Given the description of an element on the screen output the (x, y) to click on. 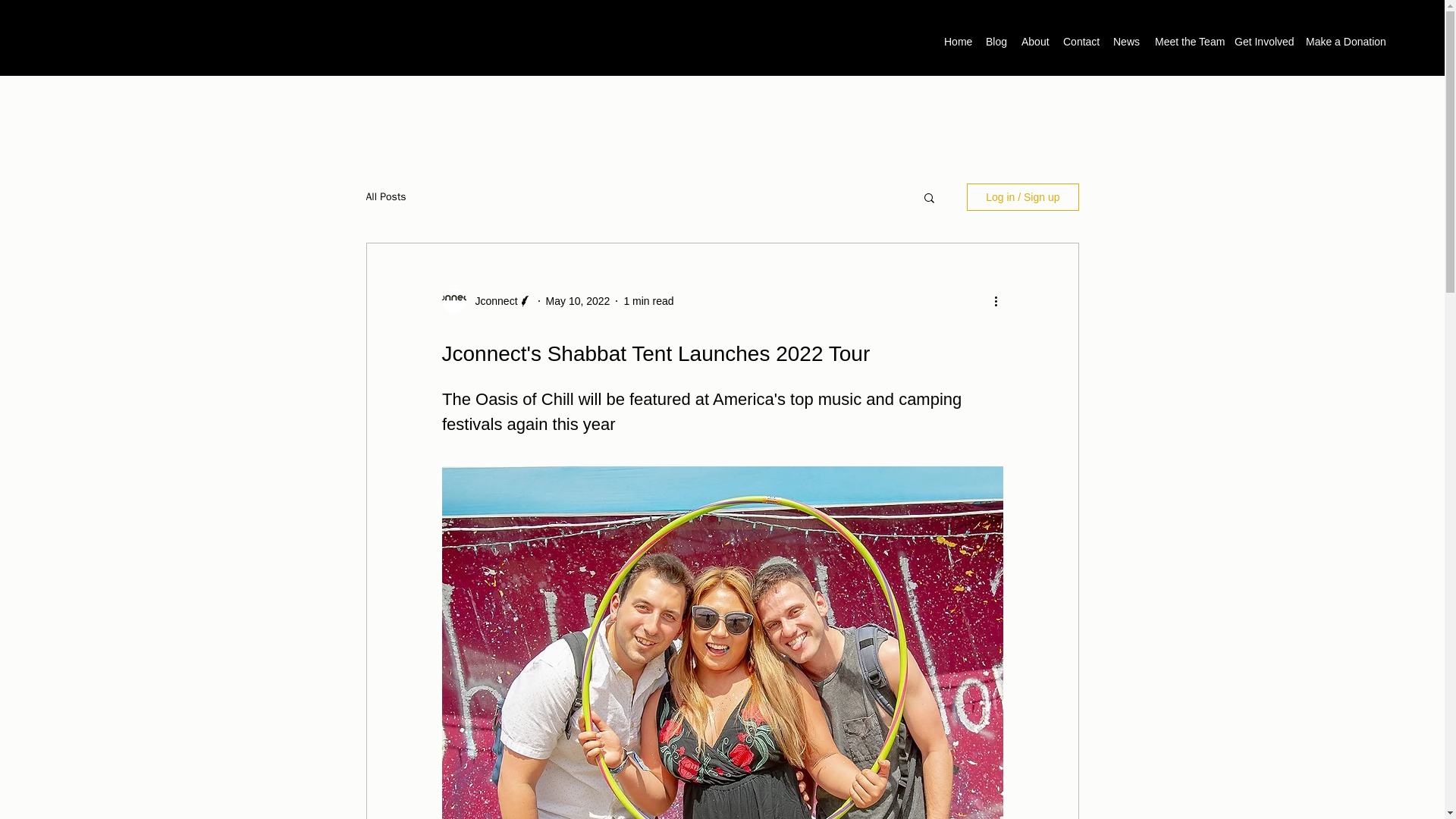
May 10, 2022 (578, 300)
Blog (995, 41)
Jconnect  (490, 300)
1 min read (647, 300)
News (1126, 41)
Contact (1080, 41)
Make a Donation (1344, 41)
About (1034, 41)
Get Involved (1262, 41)
All Posts (385, 196)
Home (957, 41)
Meet the Team (1187, 41)
